Given the description of an element on the screen output the (x, y) to click on. 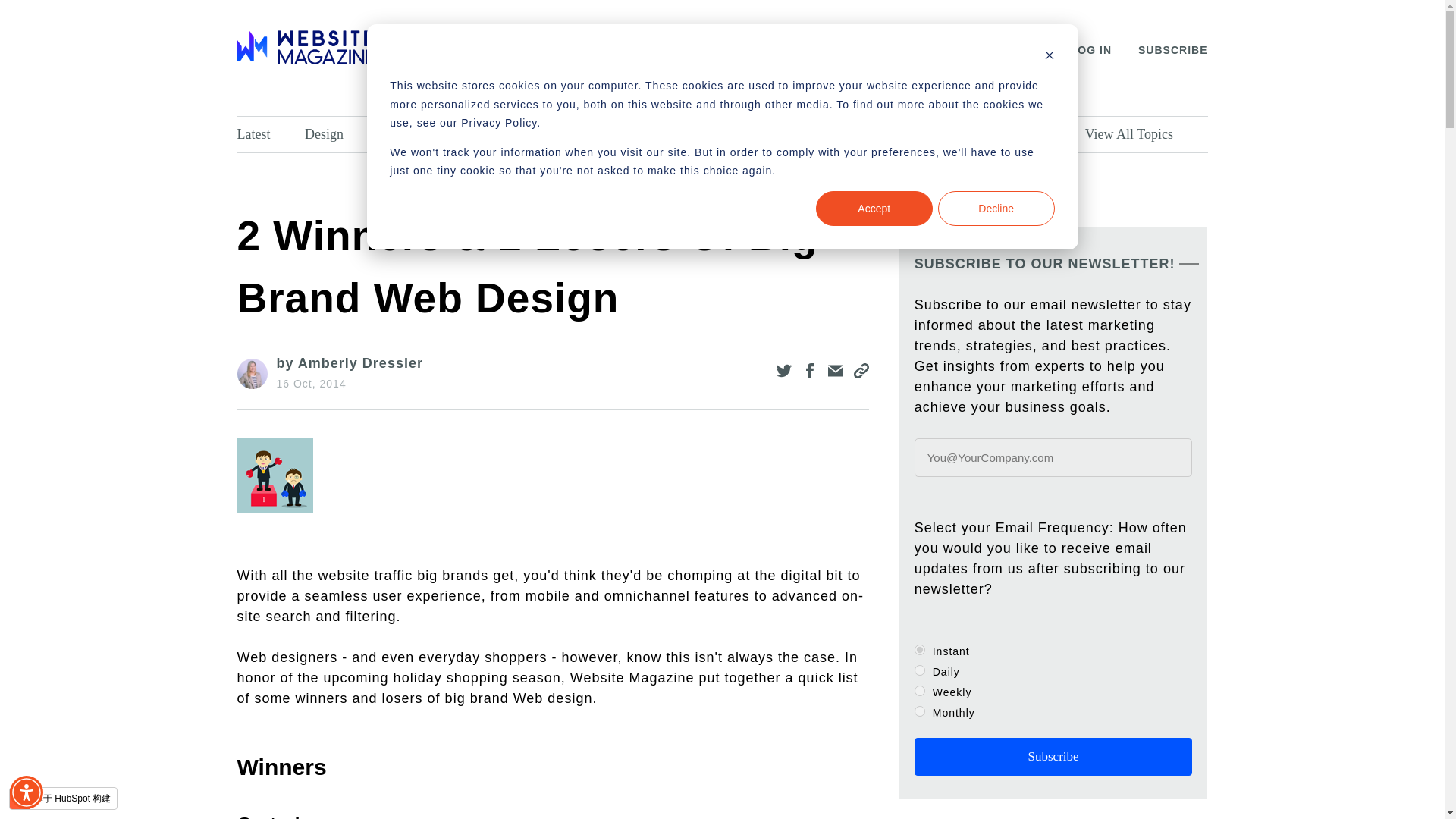
monthly (919, 710)
weekly (919, 690)
View All Topics (1141, 134)
by Amberly Dressler (349, 362)
Website Magazine Logo (303, 47)
Infographics (1029, 134)
daily (919, 670)
LOG IN (1091, 50)
SUBSCRIBE (1172, 50)
Design (337, 134)
ABOUT (449, 50)
Marketing (765, 134)
Ecommerce (593, 134)
Latest (266, 134)
SEO (512, 134)
